Given the description of an element on the screen output the (x, y) to click on. 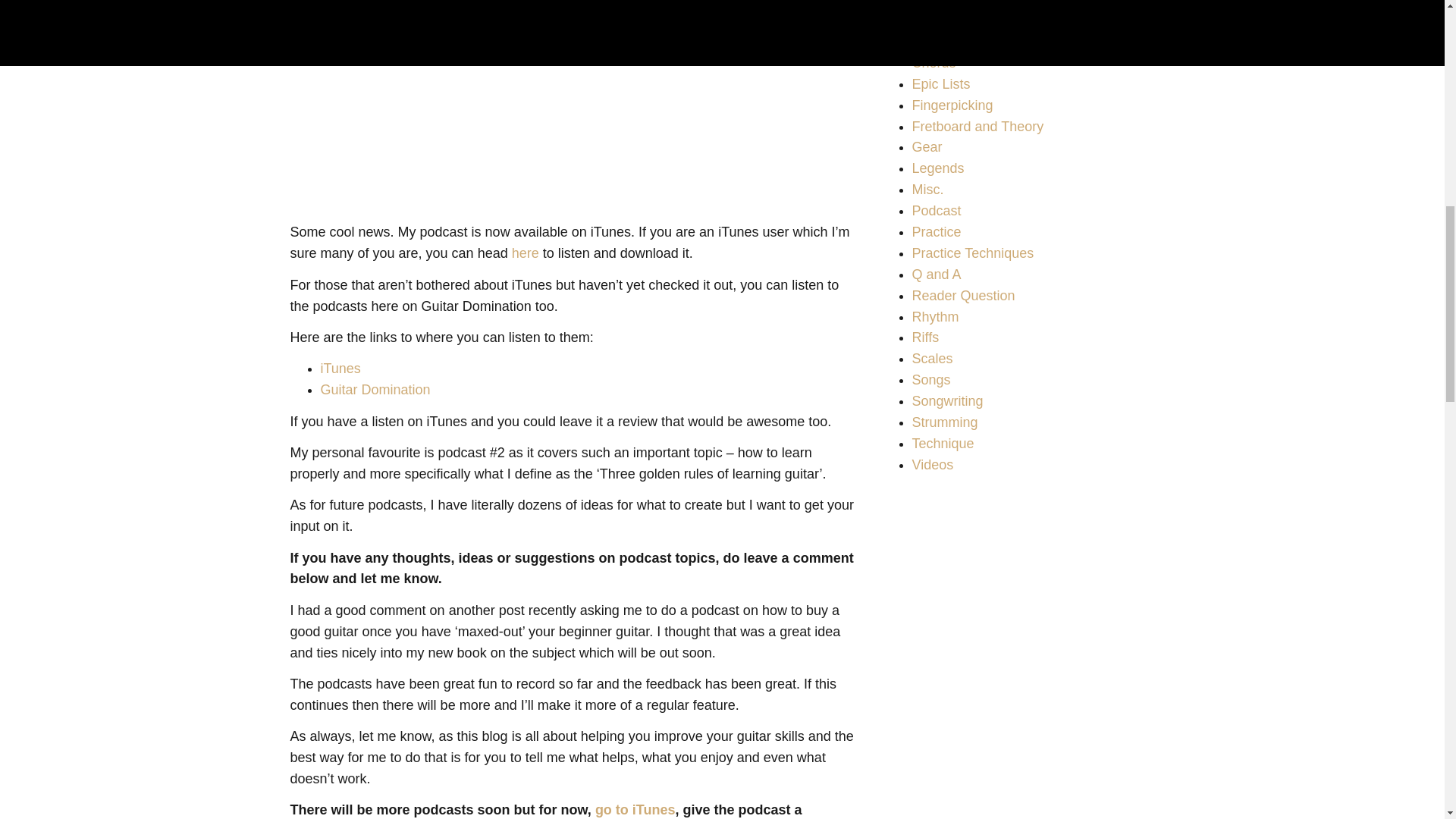
go to iTunes (635, 809)
Songwriting (946, 400)
Misc. (927, 189)
Practice (935, 231)
Songs (930, 379)
here (525, 253)
Podcast (935, 210)
Reader Question (962, 295)
Epic Lists (940, 83)
Practice Techniques (972, 253)
Legends (937, 168)
Strumming (943, 421)
Technique (942, 443)
Rhythm (934, 316)
10-Second Tips (958, 3)
